Given the description of an element on the screen output the (x, y) to click on. 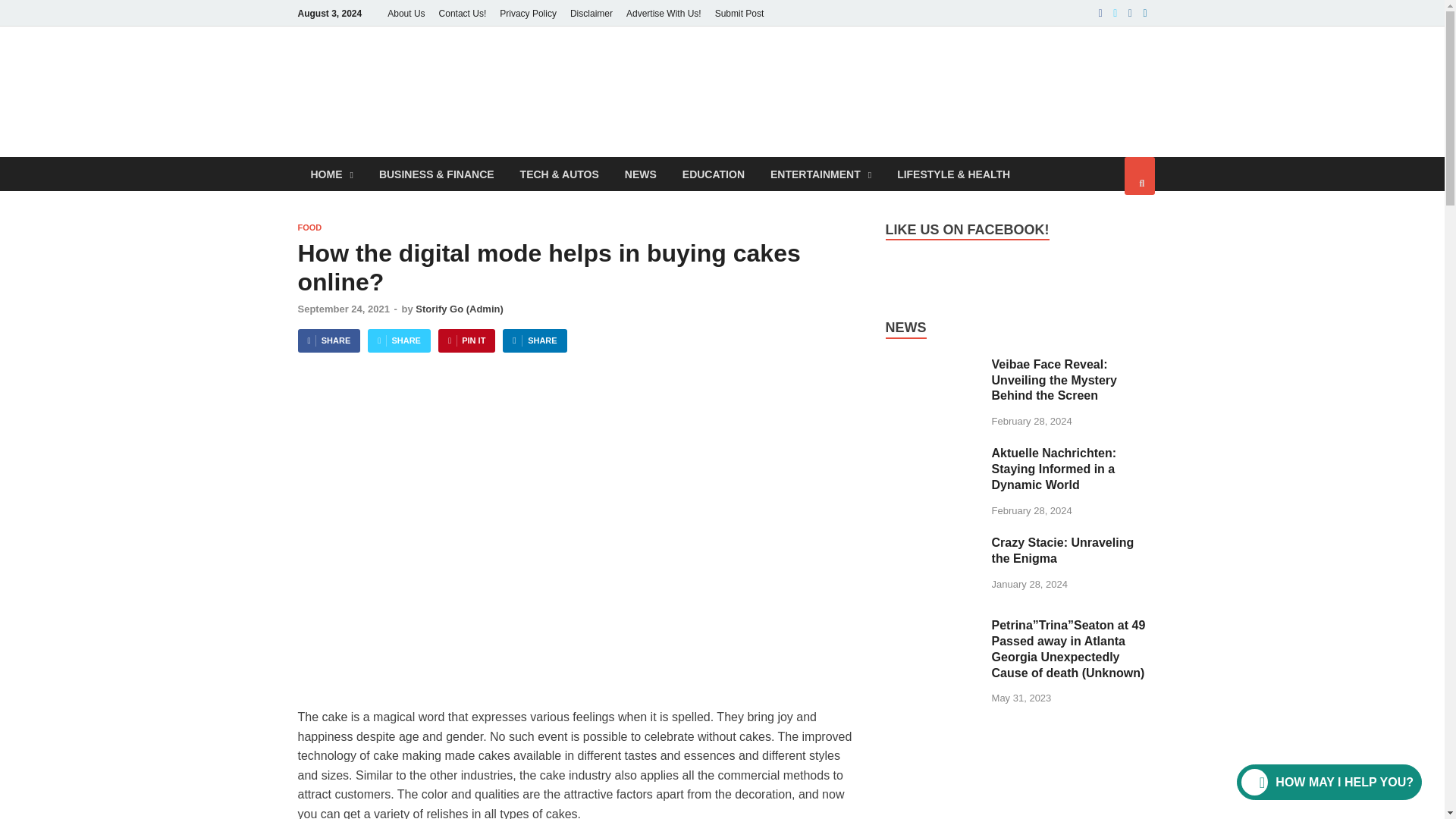
HOME (331, 173)
ENTERTAINMENT (820, 173)
NEWS (640, 173)
Veibae Face Reveal: Unveiling the Mystery Behind the Screen (932, 365)
Aktuelle Nachrichten: Staying Informed in a Dynamic World (932, 454)
Storify Go (602, 77)
Aktuelle Nachrichten (932, 478)
PIN IT (466, 340)
September 24, 2021 (342, 308)
SHARE (399, 340)
SHARE (328, 340)
veibae face reveal (932, 389)
Privacy Policy (528, 13)
FOOD (309, 226)
EDUCATION (713, 173)
